Given the description of an element on the screen output the (x, y) to click on. 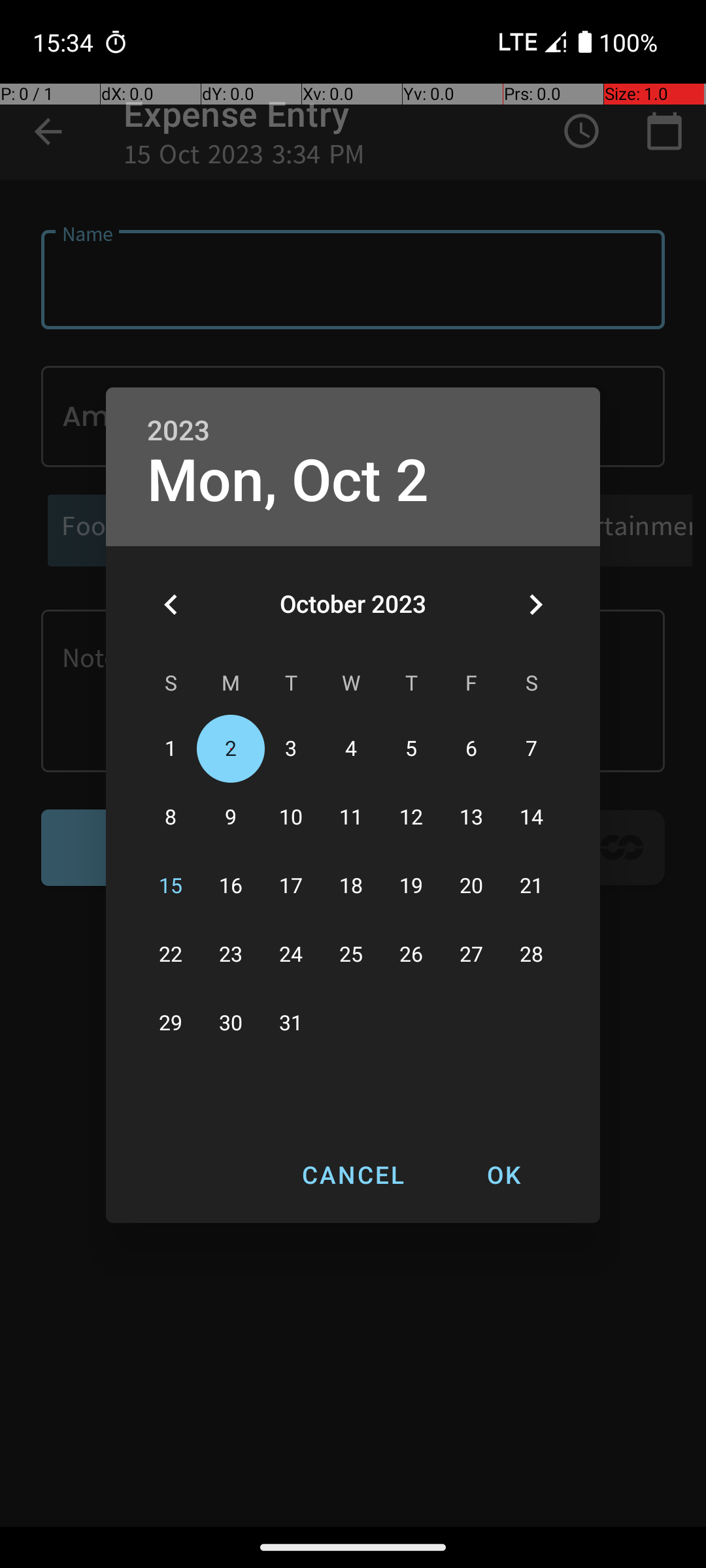
Mon, Oct 2 Element type: android.widget.TextView (287, 480)
